Given the description of an element on the screen output the (x, y) to click on. 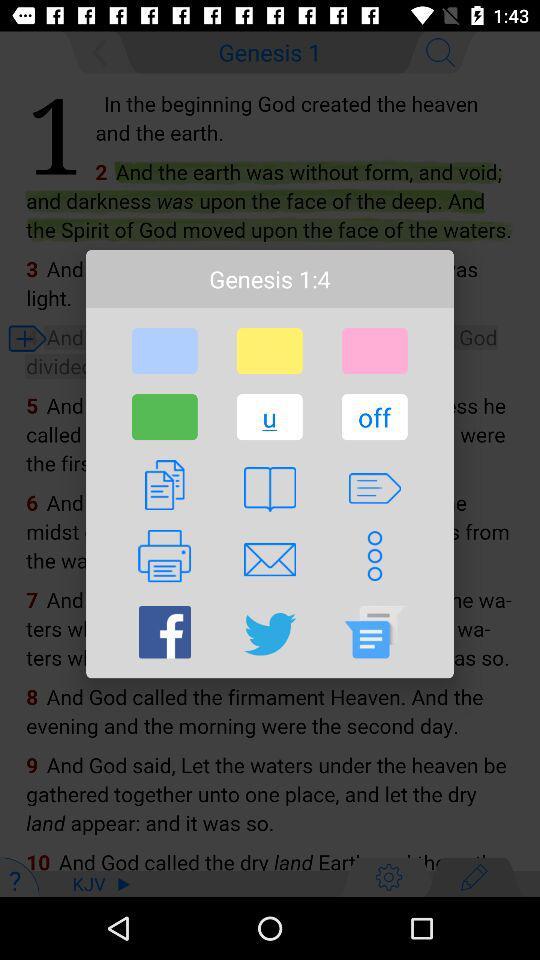
select the button next to the off (269, 417)
